Given the description of an element on the screen output the (x, y) to click on. 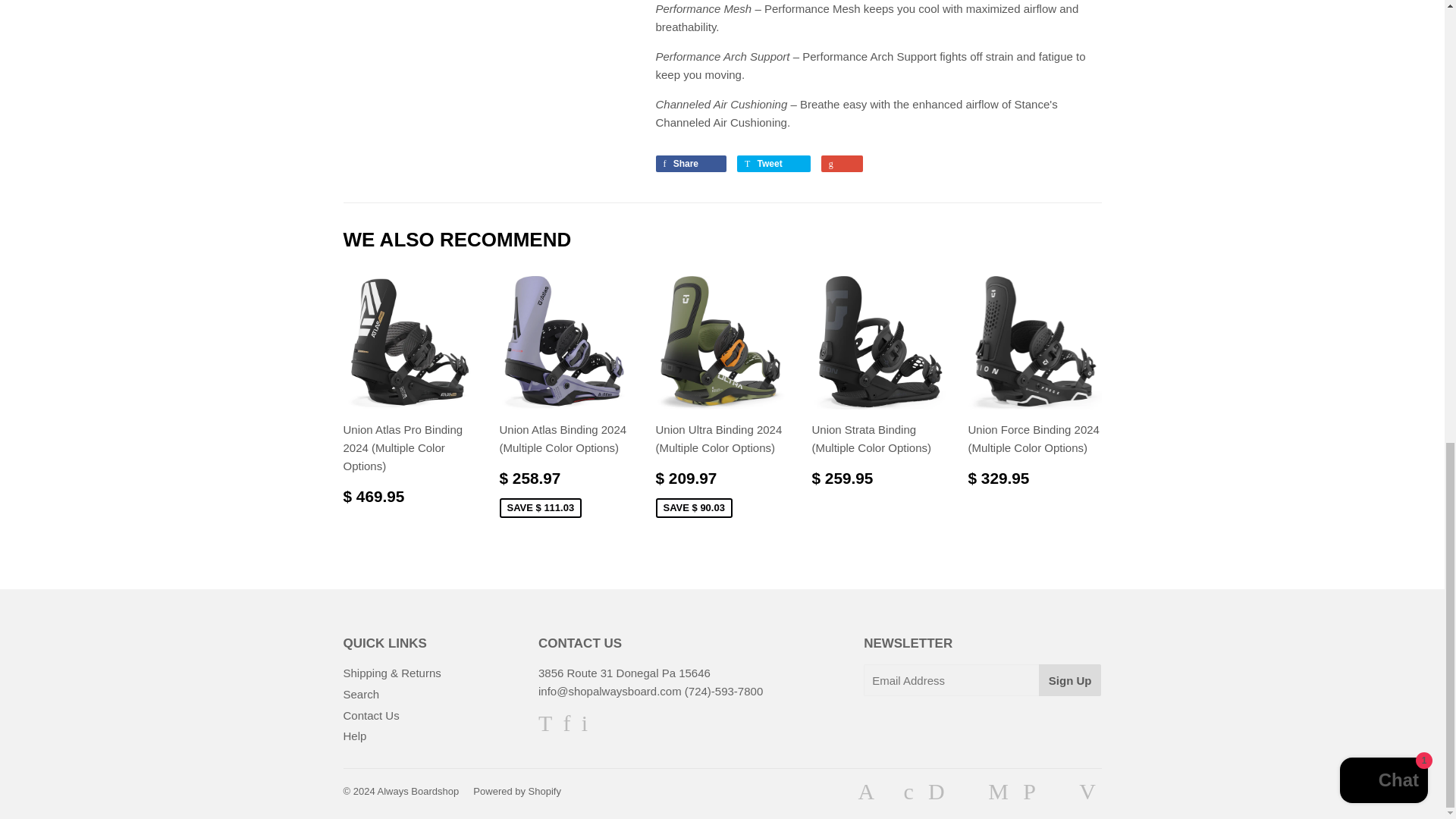
Always Boardshop on Twitter (544, 726)
Sign Up (1070, 680)
